Given the description of an element on the screen output the (x, y) to click on. 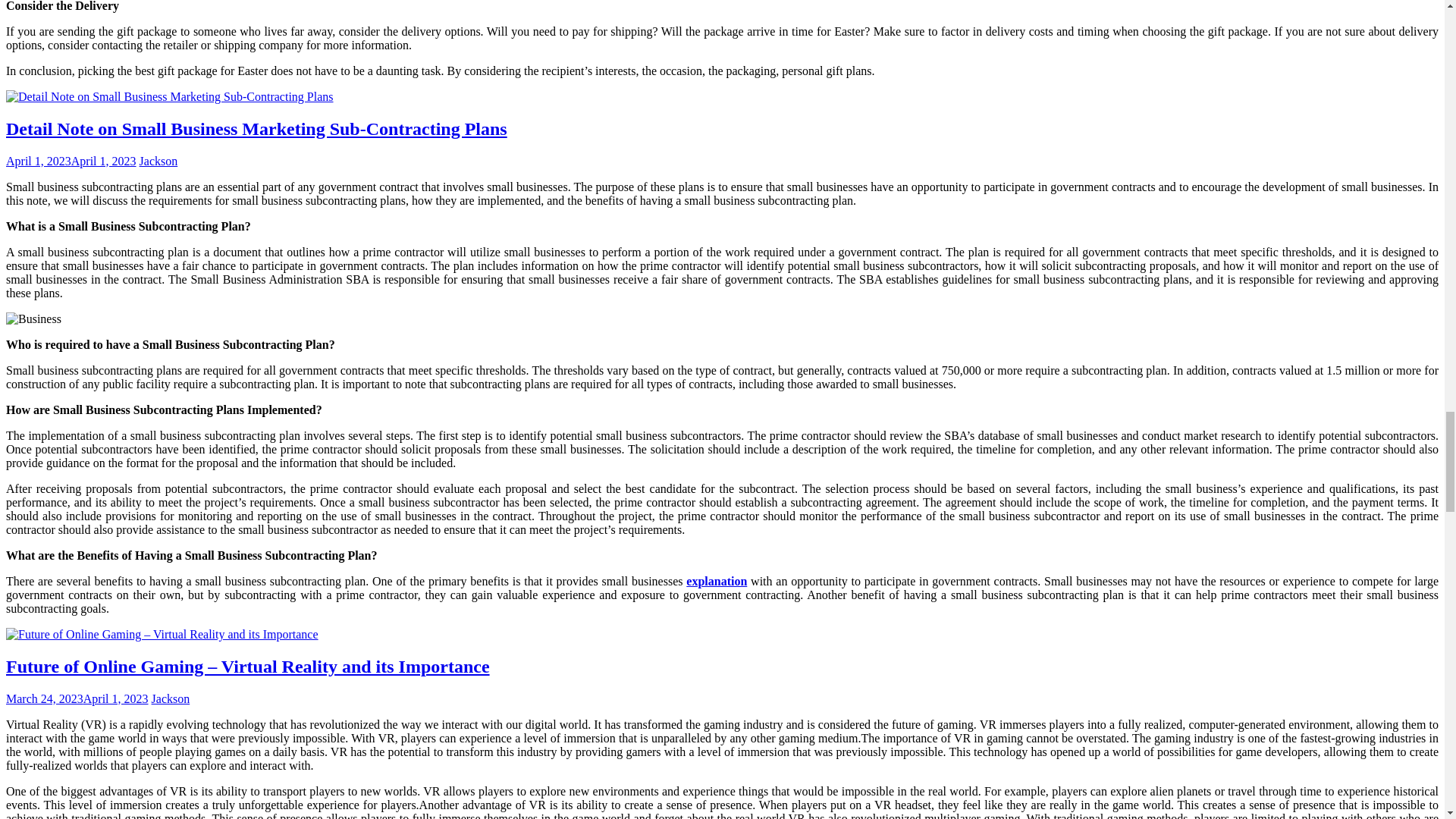
April 1, 2023April 1, 2023 (70, 160)
Jackson (158, 160)
explanation (715, 581)
